Given the description of an element on the screen output the (x, y) to click on. 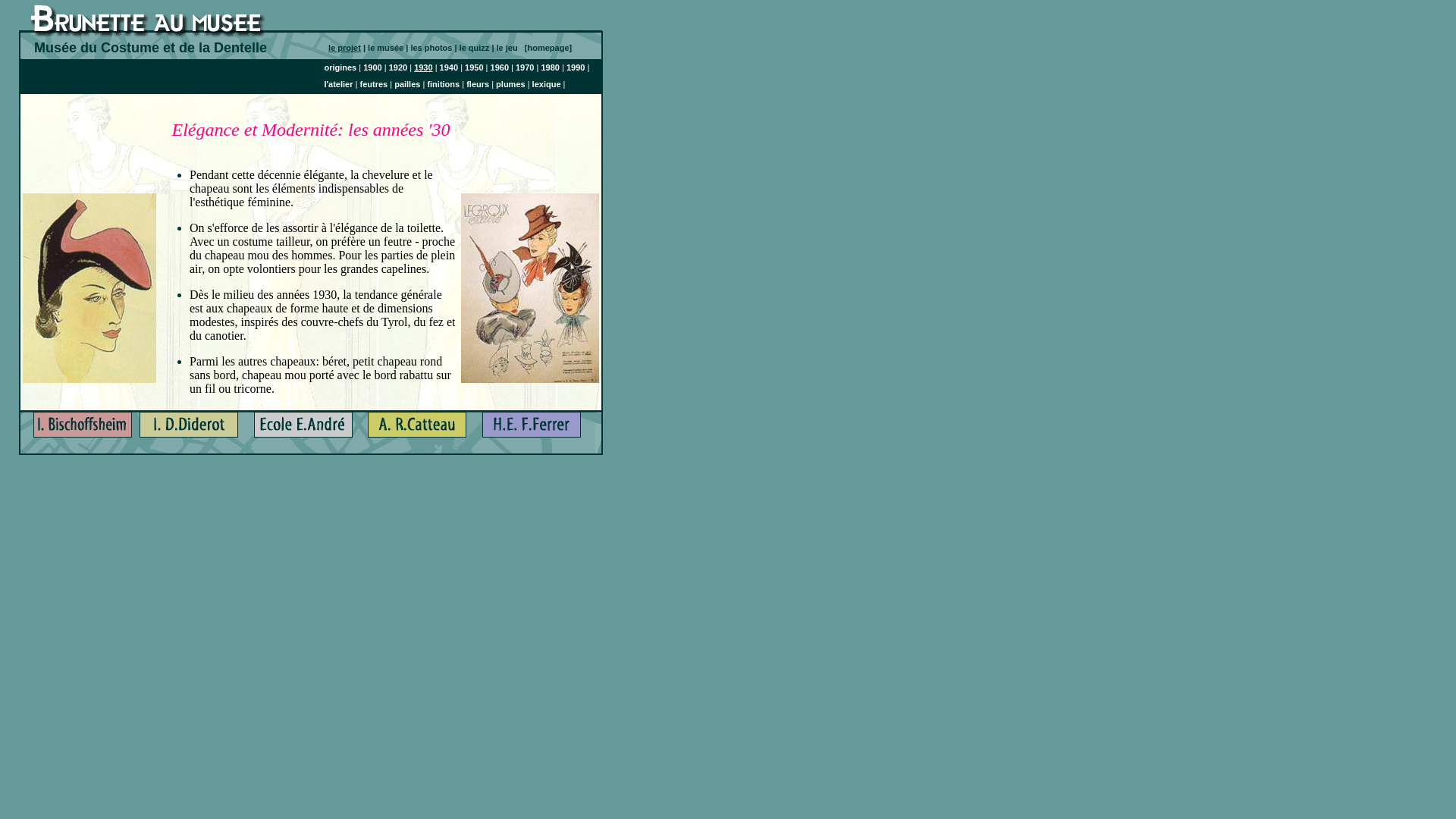
Les Archives de Bruxelles Element type: hover (188, 431)
finitions Element type: text (442, 83)
le quizz Element type: text (475, 47)
l'atelier Element type: text (337, 83)
pailles Element type: text (407, 83)
lexique Element type: text (546, 83)
feutres Element type: text (373, 83)
1900 Element type: text (372, 67)
1990 Element type: text (575, 67)
1980 Element type: text (549, 67)
1950 Element type: text (473, 67)
les photos Element type: text (432, 47)
1920 Element type: text (398, 67)
1930 Element type: text (423, 67)
le jeu   Element type: text (510, 47)
plumes Element type: text (510, 83)
fleurs Element type: text (477, 83)
origines Element type: text (339, 67)
Bruxella 1238 Element type: hover (303, 431)
1960 Element type: text (499, 67)
1940 Element type: text (448, 67)
l'Hotel de ville de Bruxelles Element type: hover (416, 431)
1970 Element type: text (524, 67)
homepage Element type: text (547, 47)
La Maison du Roi Element type: hover (82, 431)
